Given the description of an element on the screen output the (x, y) to click on. 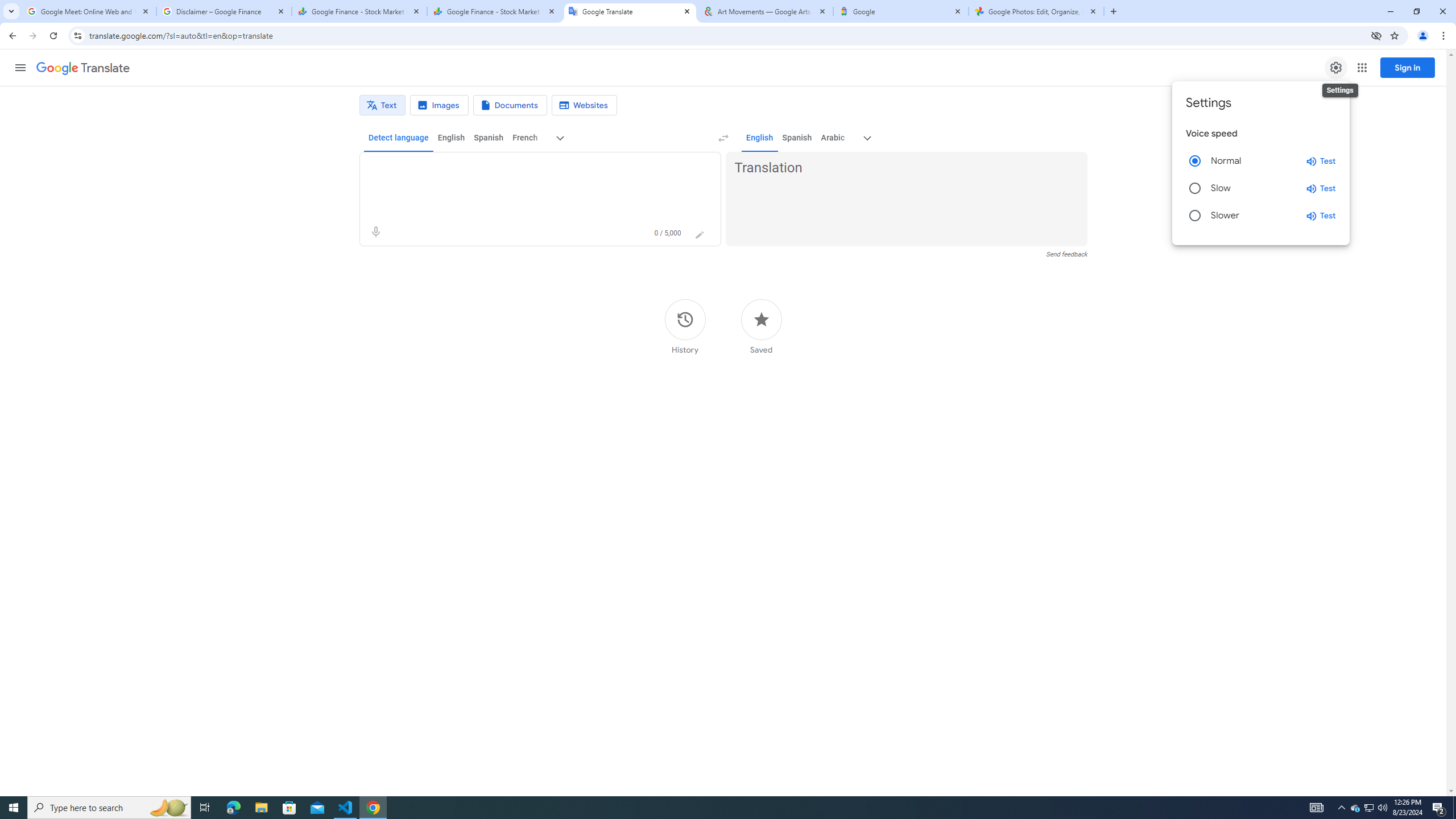
Image translation (439, 105)
More source languages (560, 137)
Send feedback (1066, 253)
Text translation (382, 105)
Translate by voice (375, 231)
0 of 5,000 characters used (667, 232)
Google (901, 11)
Arabic (832, 137)
English (759, 137)
